Given the description of an element on the screen output the (x, y) to click on. 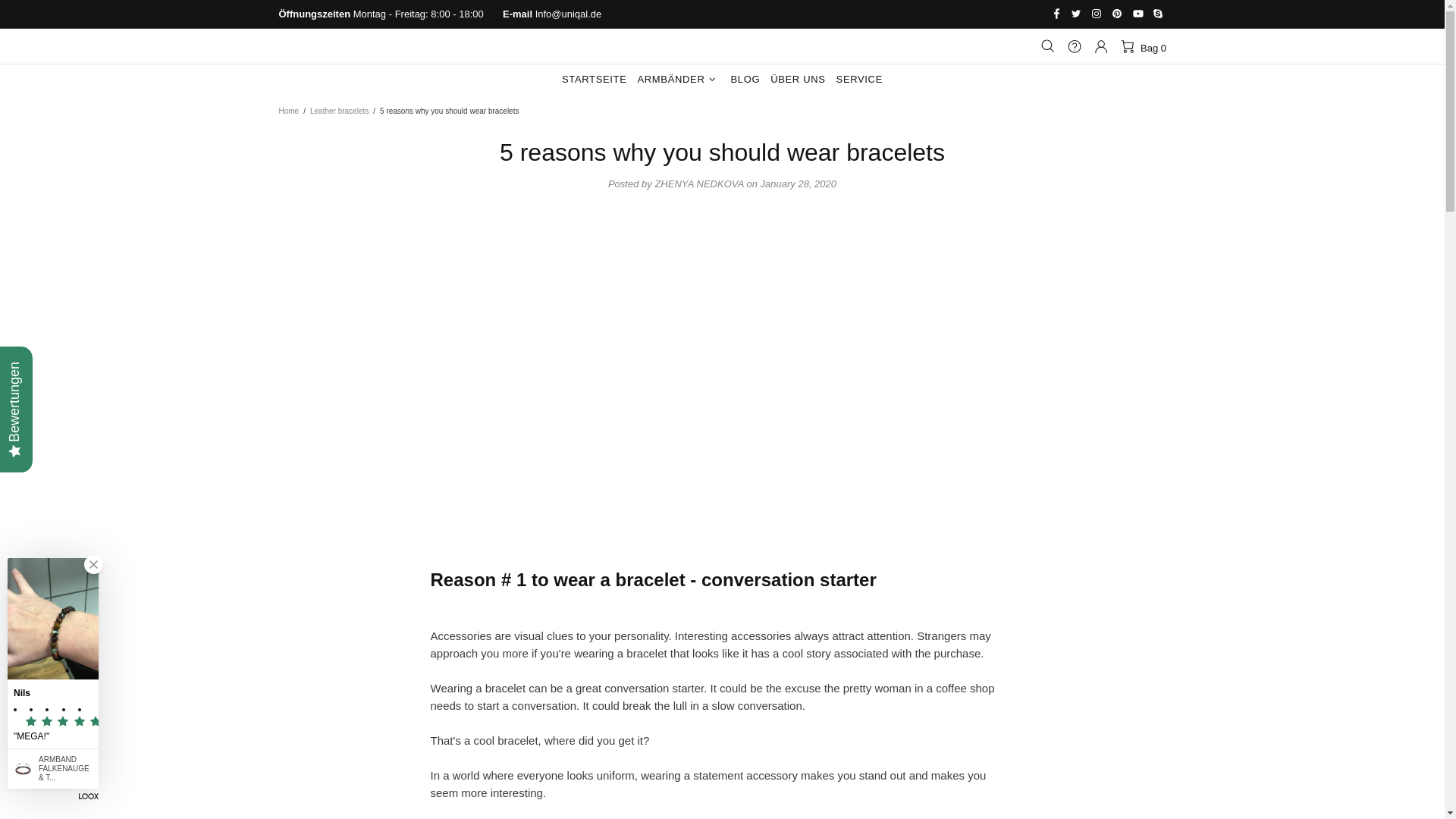
Leather bracelets (339, 111)
SERVICE (859, 79)
Bag 0 (1142, 46)
STARTSEITE (593, 79)
BLOG (745, 79)
Home (288, 111)
MEGA!  (53, 736)
Uniqal.de (721, 45)
